Given the description of an element on the screen output the (x, y) to click on. 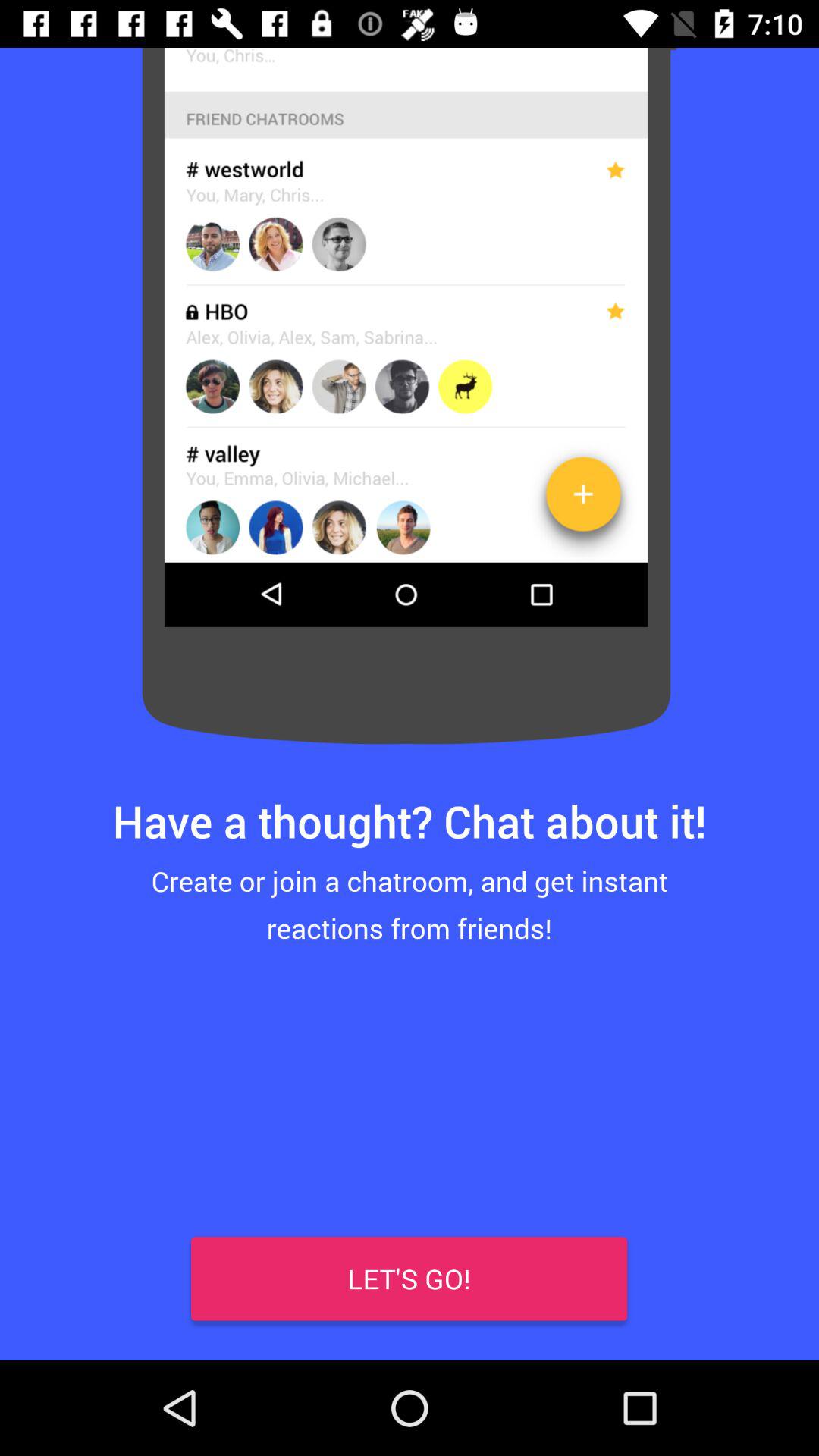
click the icon below the create or join item (47, 1312)
